Given the description of an element on the screen output the (x, y) to click on. 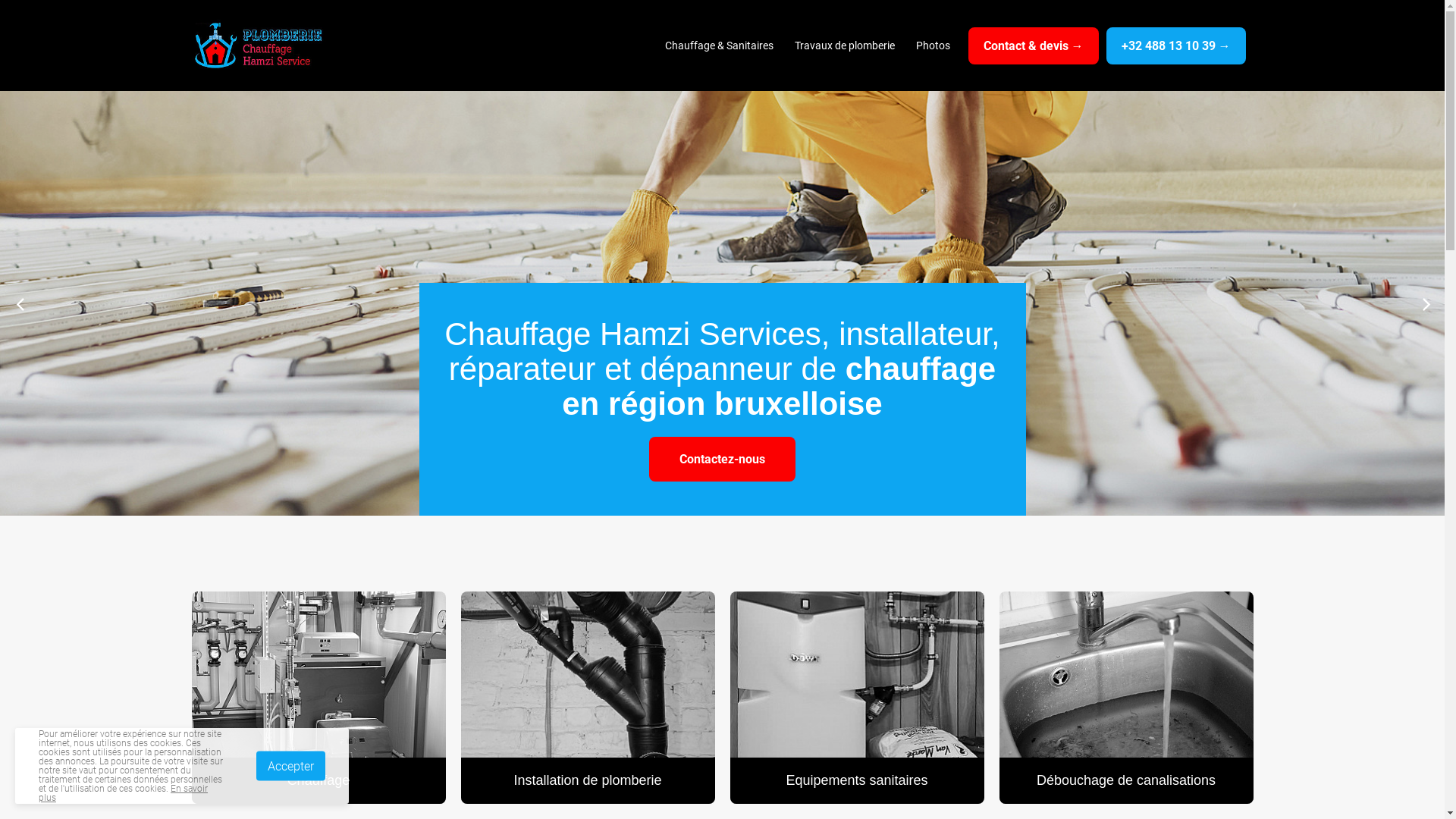
Chauffage Element type: text (318, 697)
Equipements sanitaires Element type: text (856, 697)
Photos Element type: text (932, 45)
En savoir plus Element type: text (122, 793)
Travaux de plomberie Element type: text (844, 45)
Contactez-nous Element type: text (722, 458)
Installation de plomberie Element type: text (588, 697)
Accepter Element type: text (290, 765)
Chauffage & Sanitaires Element type: text (718, 45)
